Given the description of an element on the screen output the (x, y) to click on. 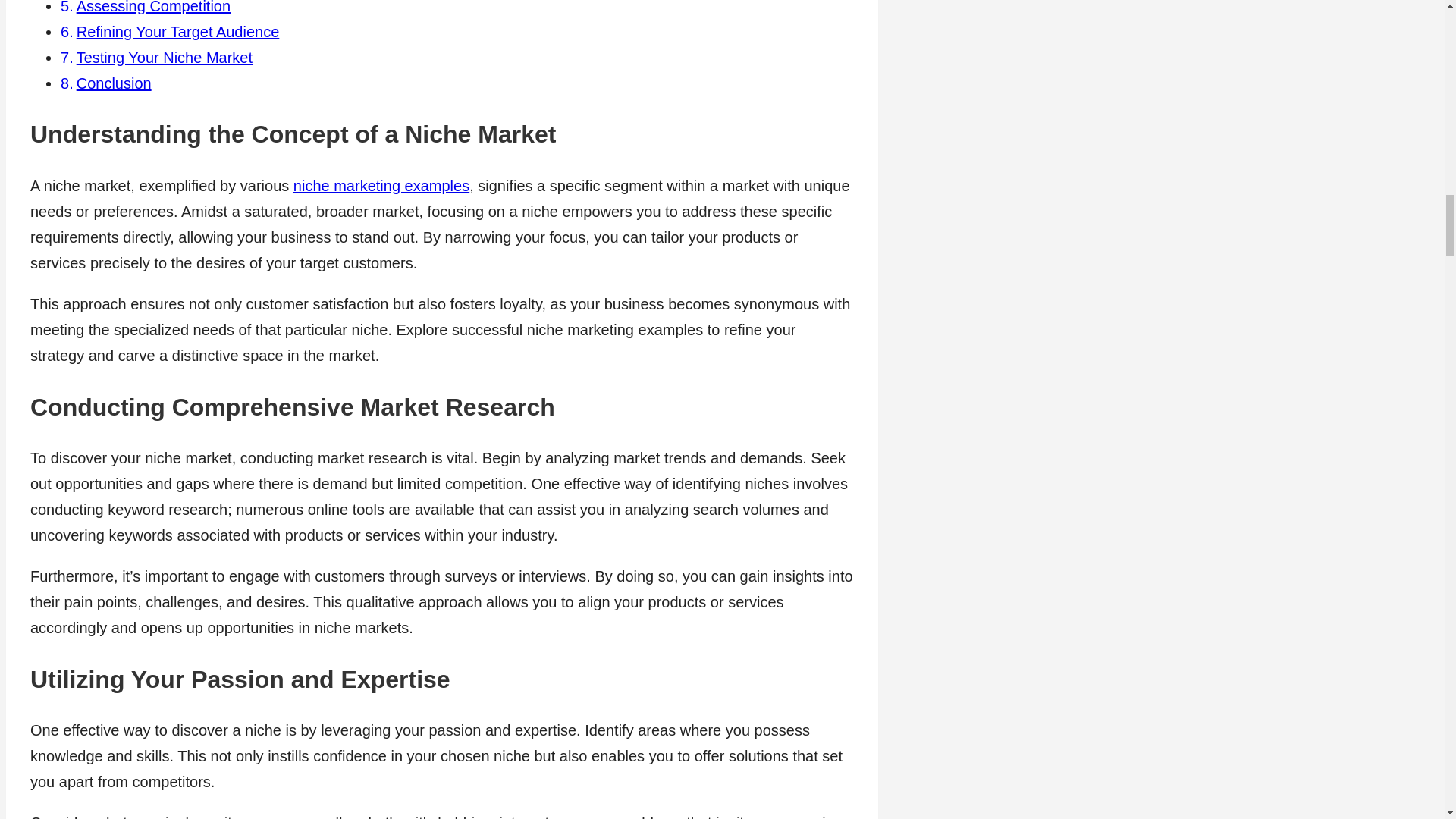
Refining Your Target Audience (178, 31)
Conclusion (114, 83)
Testing Your Niche Market (164, 57)
Assessing Competition (153, 7)
